Given the description of an element on the screen output the (x, y) to click on. 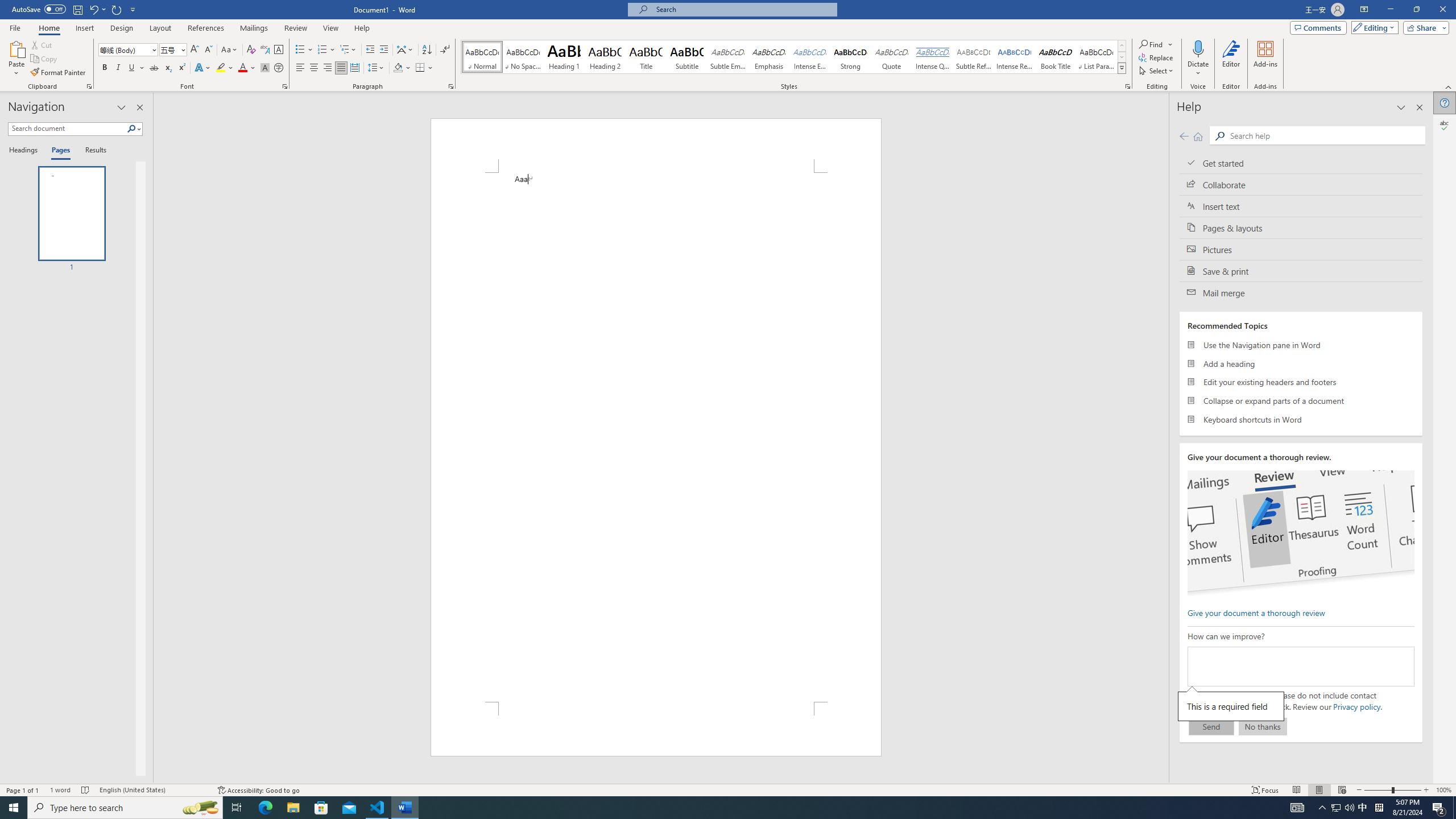
Subtle Emphasis (727, 56)
Zoom 100% (1443, 790)
